Given the description of an element on the screen output the (x, y) to click on. 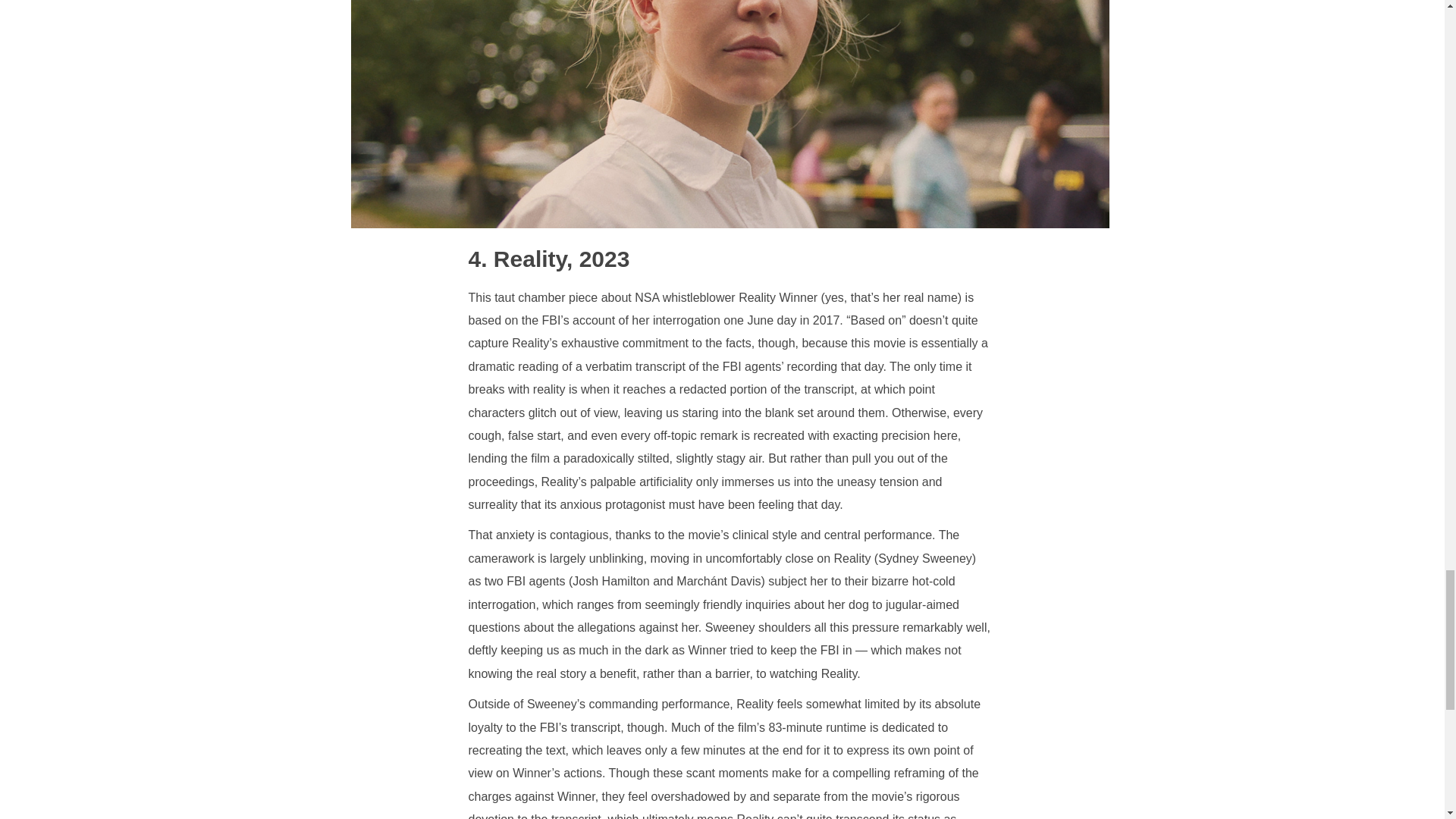
Reality (517, 258)
